Given the description of an element on the screen output the (x, y) to click on. 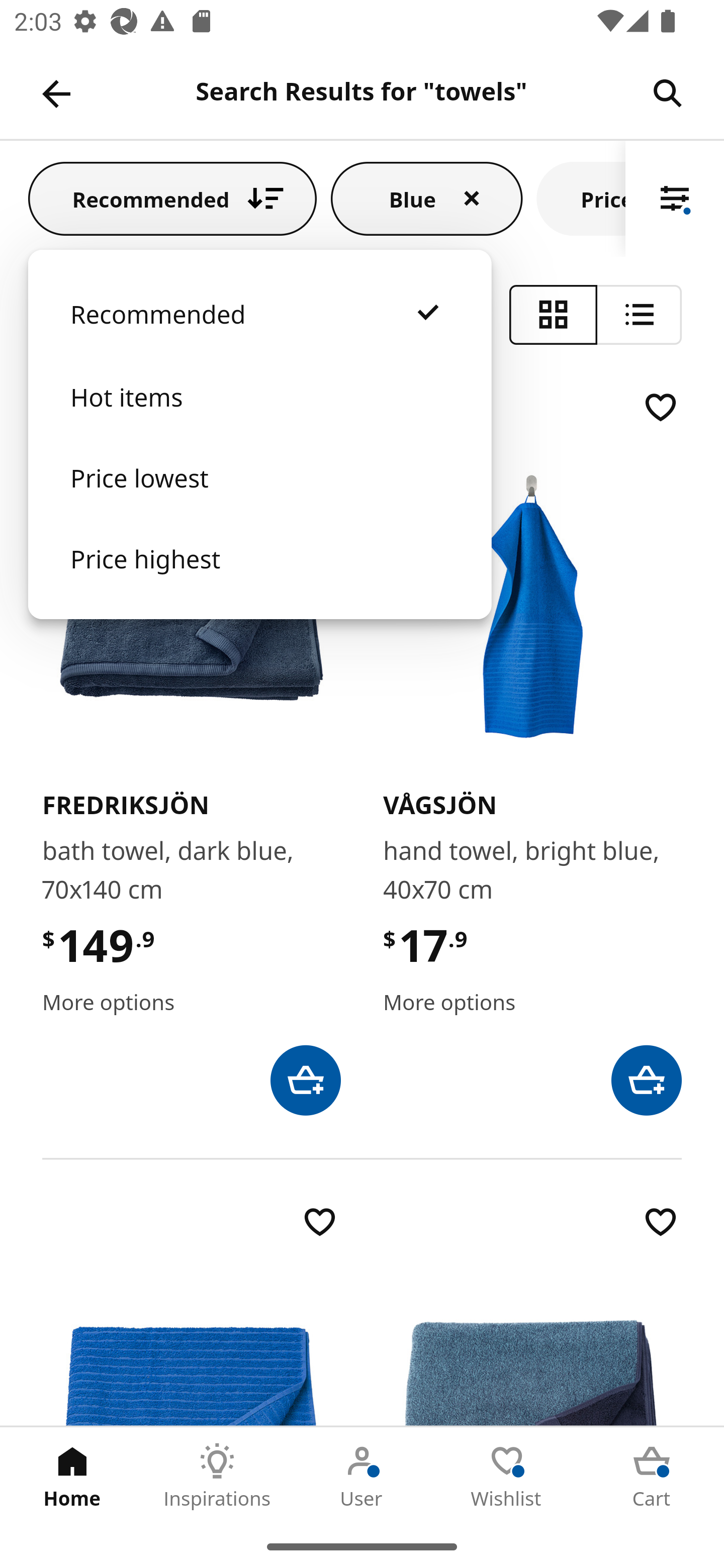
Recommended (172, 198)
Blue (426, 198)
Price (581, 198)
Recommended (259, 333)
Hot items (259, 416)
Price lowest (259, 497)
Price highest (259, 578)
Home
Tab 1 of 5 (72, 1476)
Inspirations
Tab 2 of 5 (216, 1476)
User
Tab 3 of 5 (361, 1476)
Wishlist
Tab 4 of 5 (506, 1476)
Cart
Tab 5 of 5 (651, 1476)
